Given the description of an element on the screen output the (x, y) to click on. 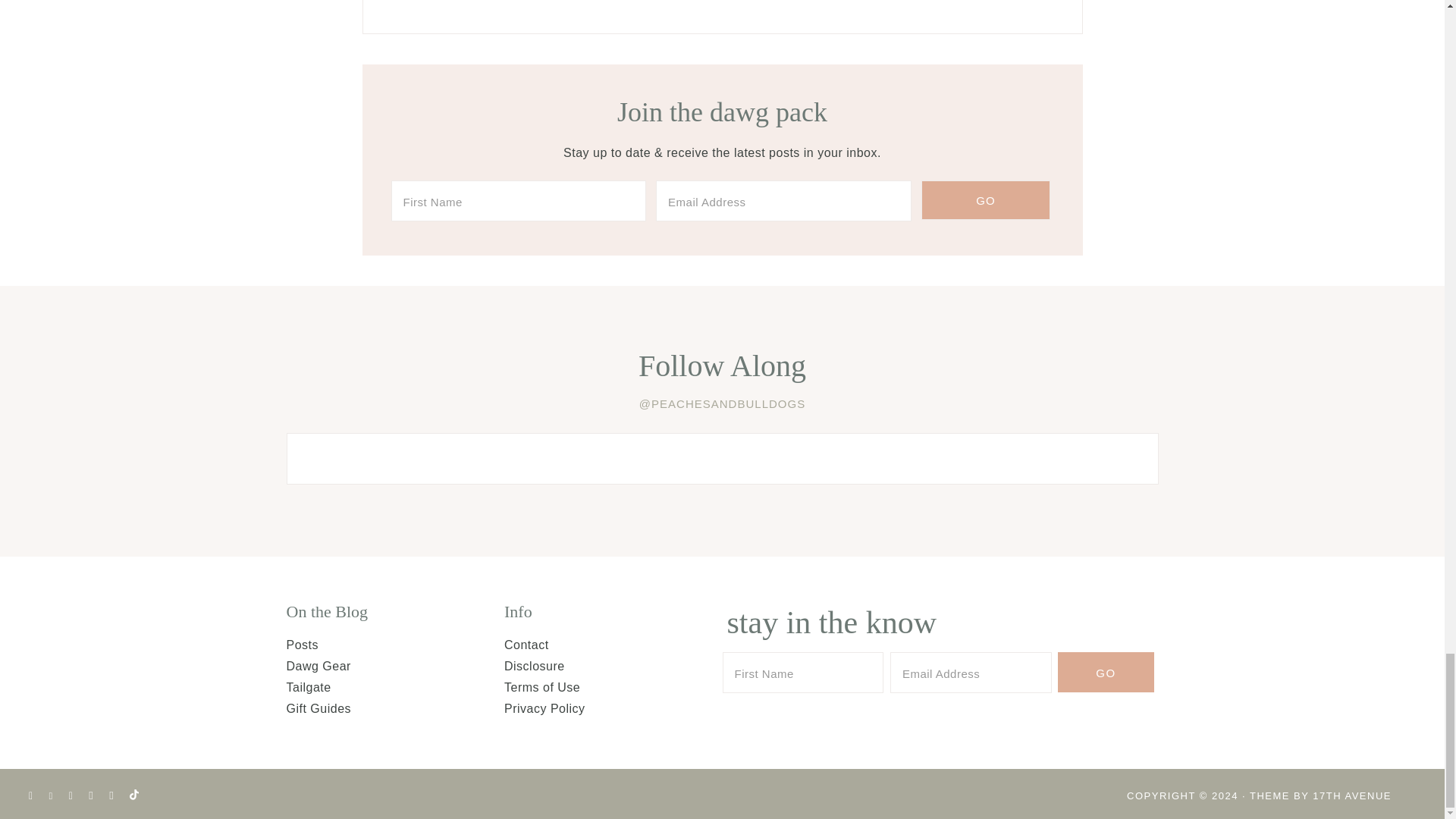
Go (985, 200)
Go (1106, 671)
